Given the description of an element on the screen output the (x, y) to click on. 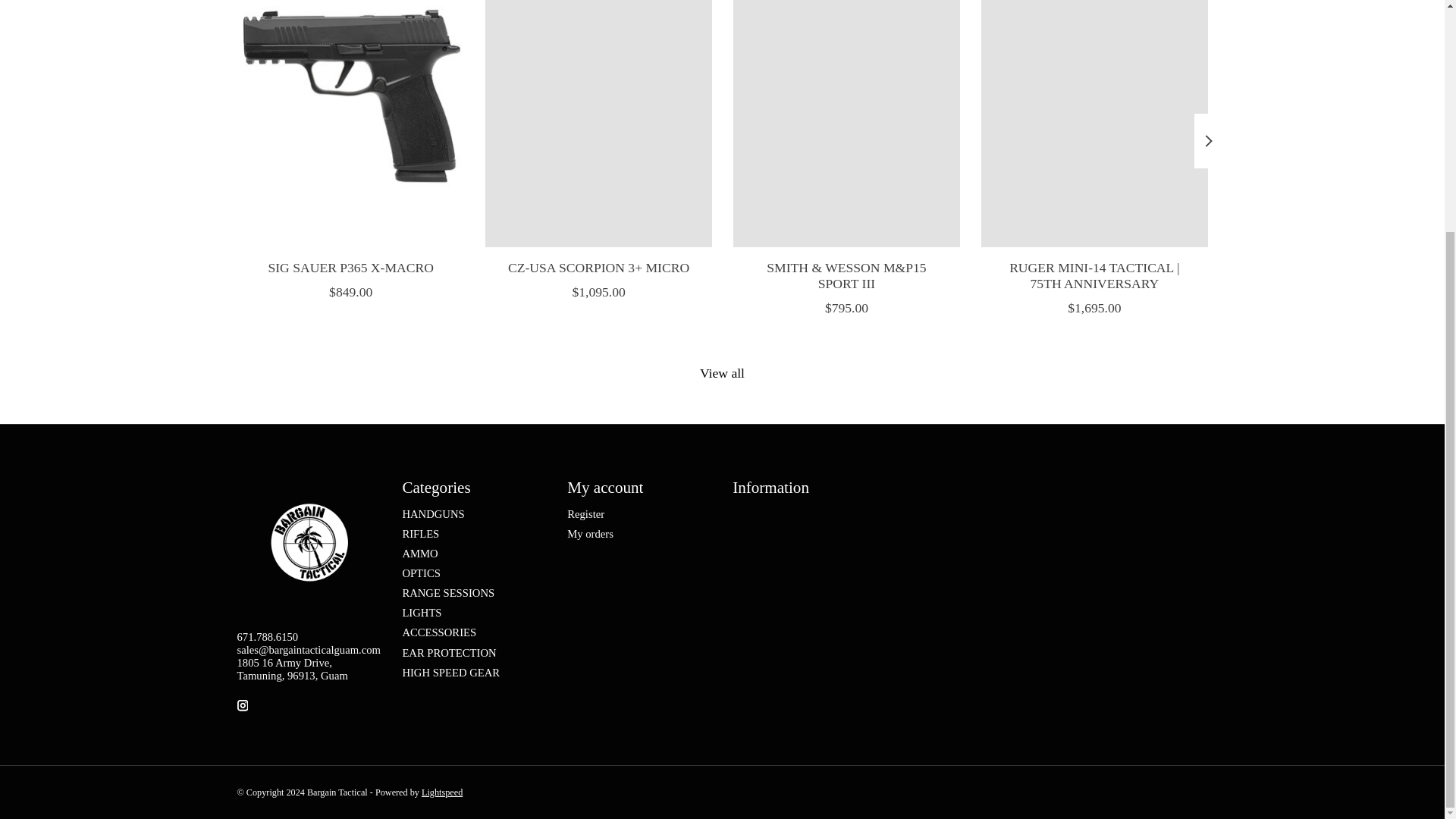
My orders (589, 533)
Lightspeed (442, 792)
SIG SAUER SIG SAUER P365 X-MACRO (349, 123)
SIG SAUER P365 X-MACRO (350, 266)
Register (585, 513)
